Given the description of an element on the screen output the (x, y) to click on. 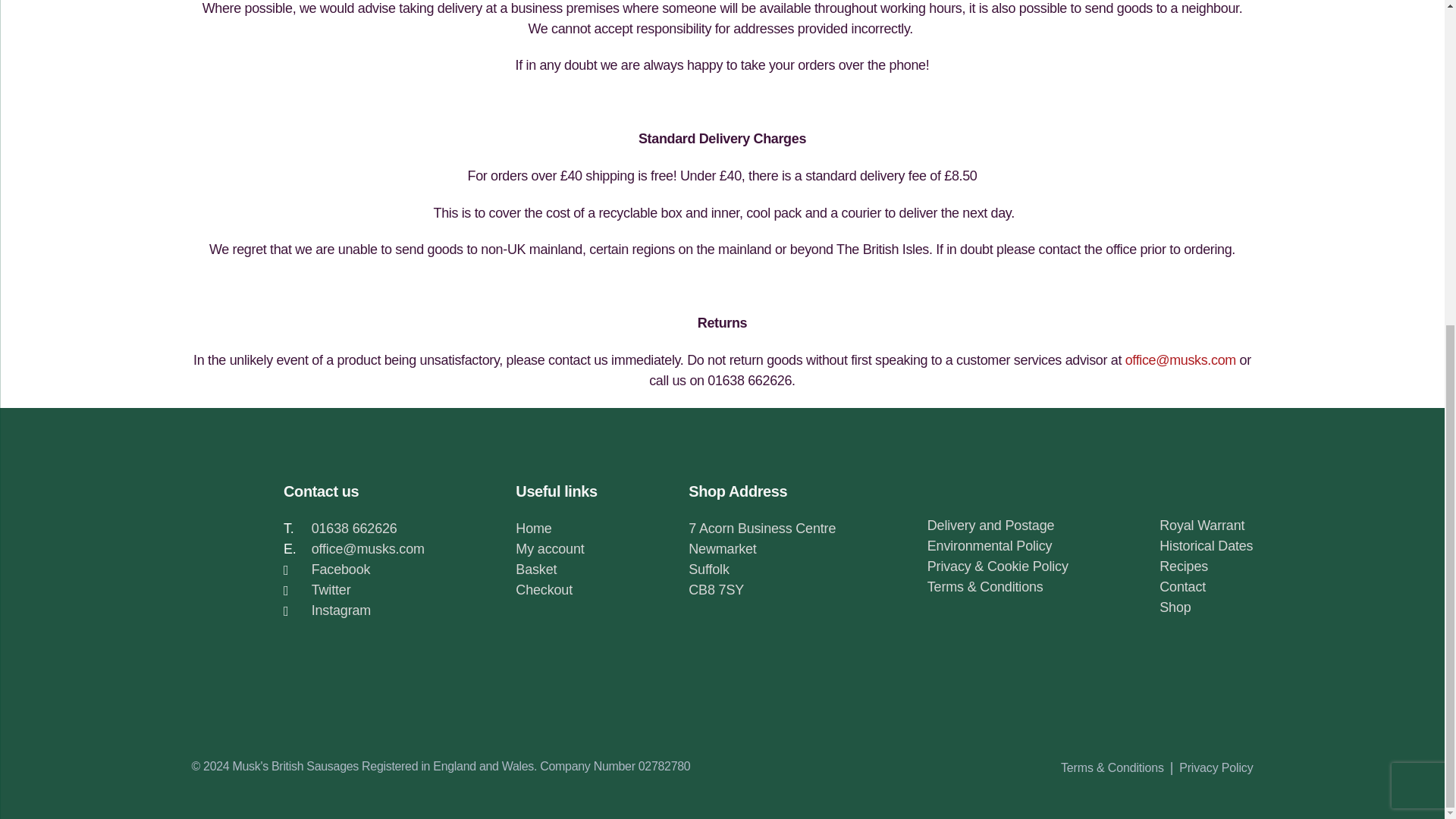
Home (533, 528)
Basket (535, 569)
Twitter (330, 589)
Checkout (543, 589)
01638 662626 (354, 528)
Facebook (341, 569)
Instagram (341, 610)
My account (549, 548)
